Given the description of an element on the screen output the (x, y) to click on. 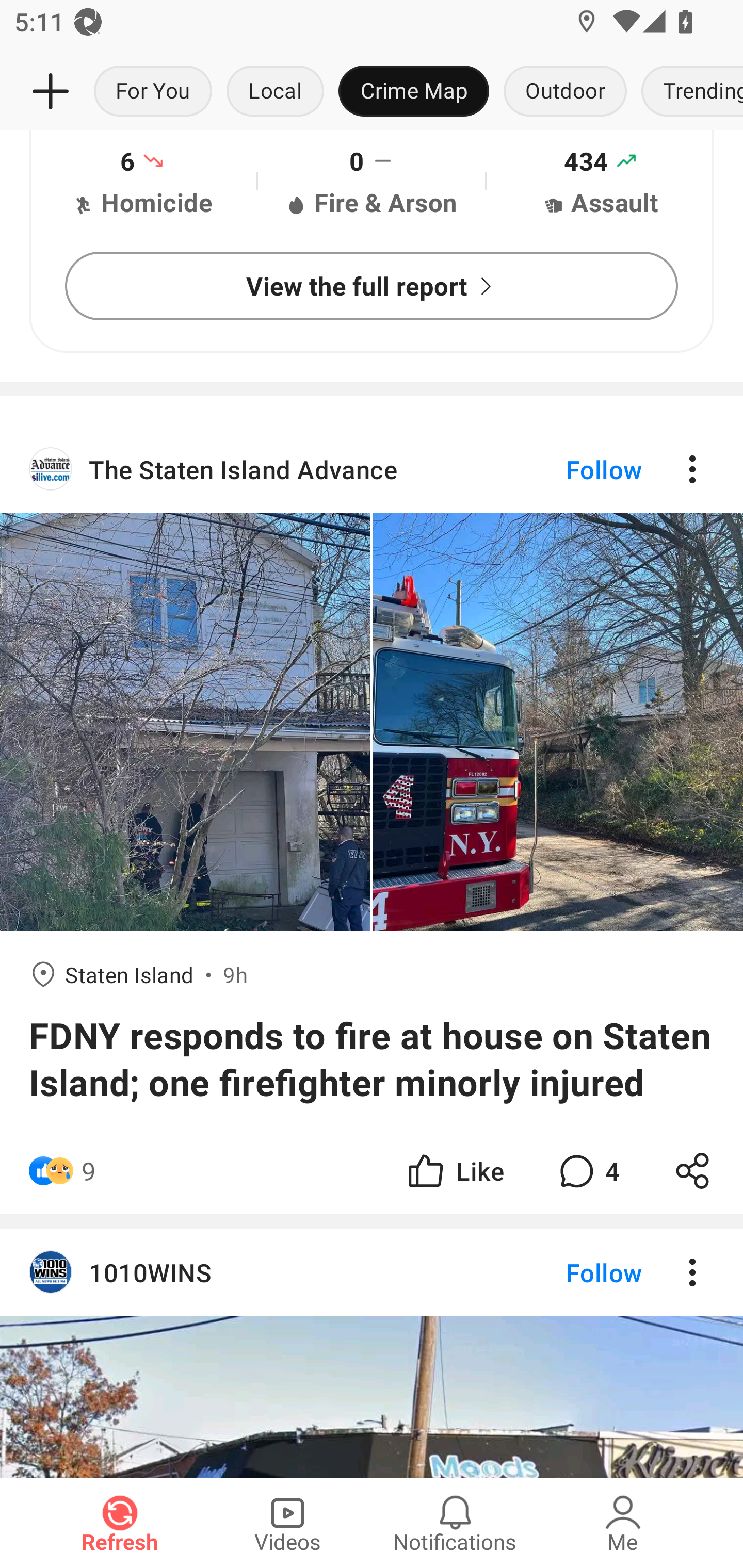
For You (152, 91)
Local (275, 91)
Crime Map (413, 91)
Outdoor (564, 91)
Trending (688, 91)
View the full report (371, 285)
The Staten Island Advance Follow (371, 468)
Follow (569, 468)
9 (88, 1170)
Like (454, 1170)
4 (587, 1170)
1010WINS Follow (371, 1272)
Follow (569, 1272)
Videos (287, 1522)
Notifications (455, 1522)
Me (622, 1522)
